Given the description of an element on the screen output the (x, y) to click on. 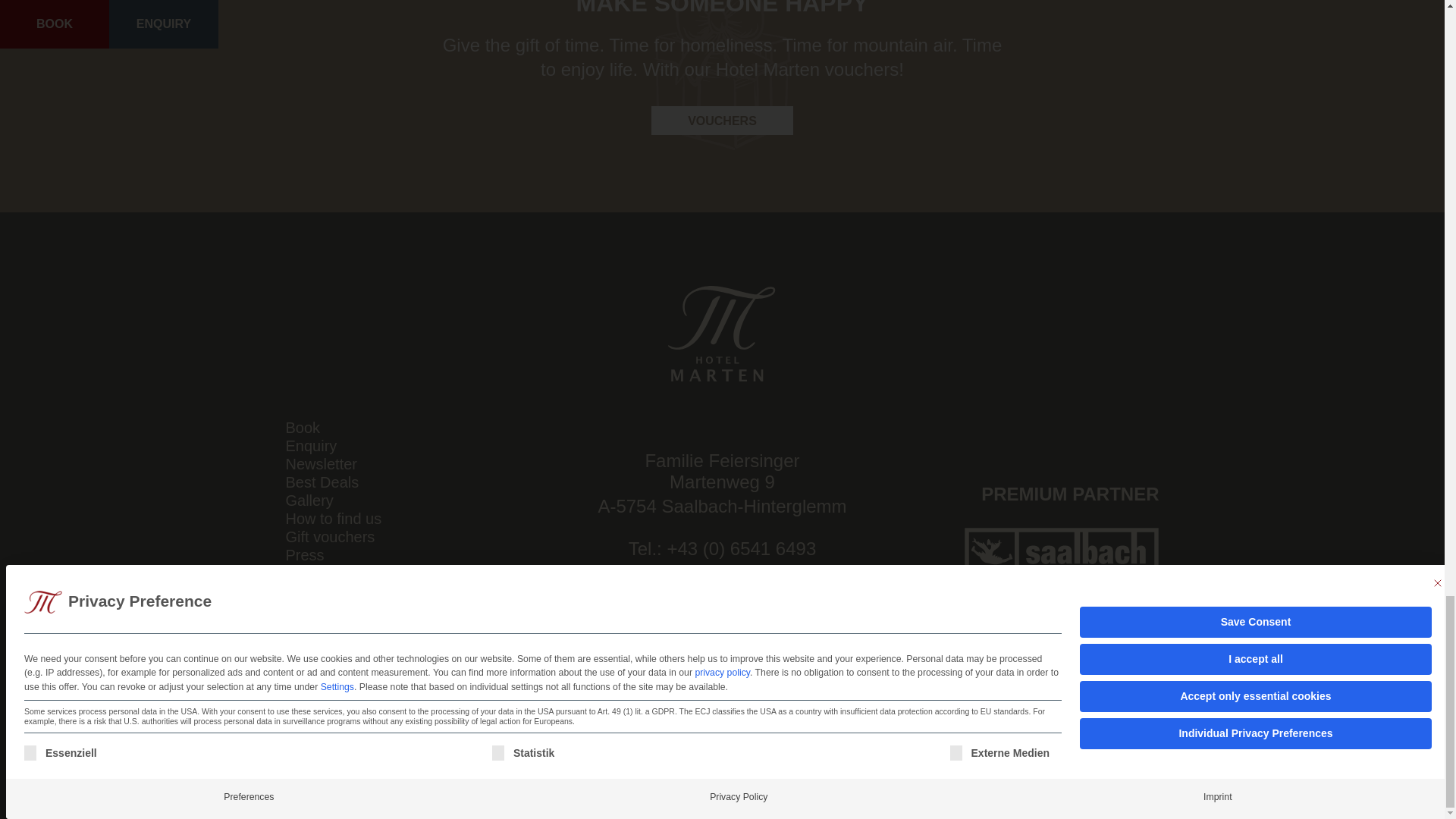
Home (721, 333)
Marten Facebook (653, 645)
Marten Flickr (745, 645)
Marten Instagram (699, 645)
Marten Pinterest (790, 645)
